Given the description of an element on the screen output the (x, y) to click on. 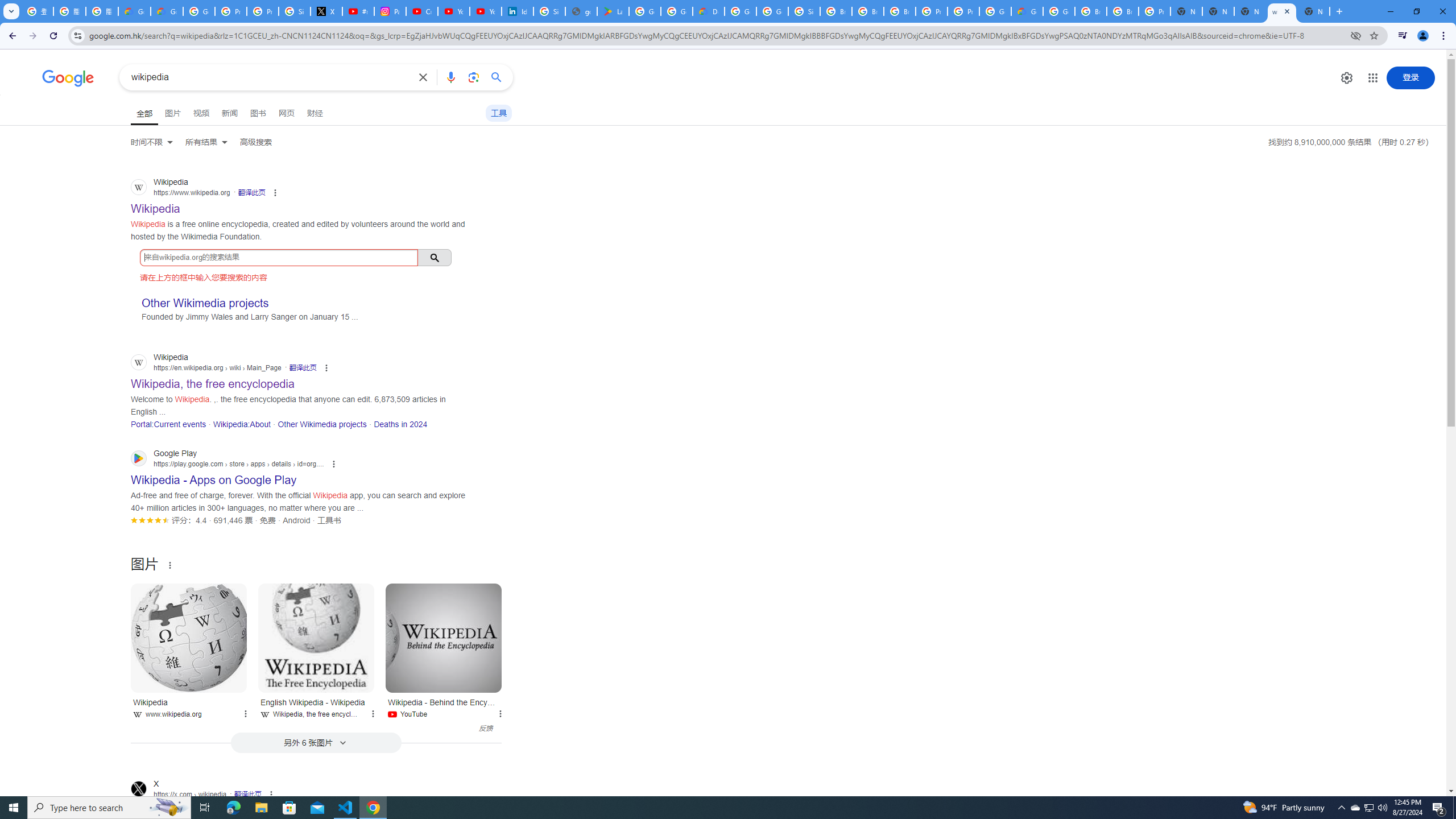
Google Workspace - Specific Terms (676, 11)
Sign in - Google Accounts (549, 11)
Google Cloud Estimate Summary (1027, 11)
Google (68, 78)
New Tab (1313, 11)
Wikipedia - Behind the Encyclopedia YouTube (443, 706)
 Wikipedia Wikipedia https://www.wikipedia.org (155, 205)
Portal:Current events (168, 424)
